Given the description of an element on the screen output the (x, y) to click on. 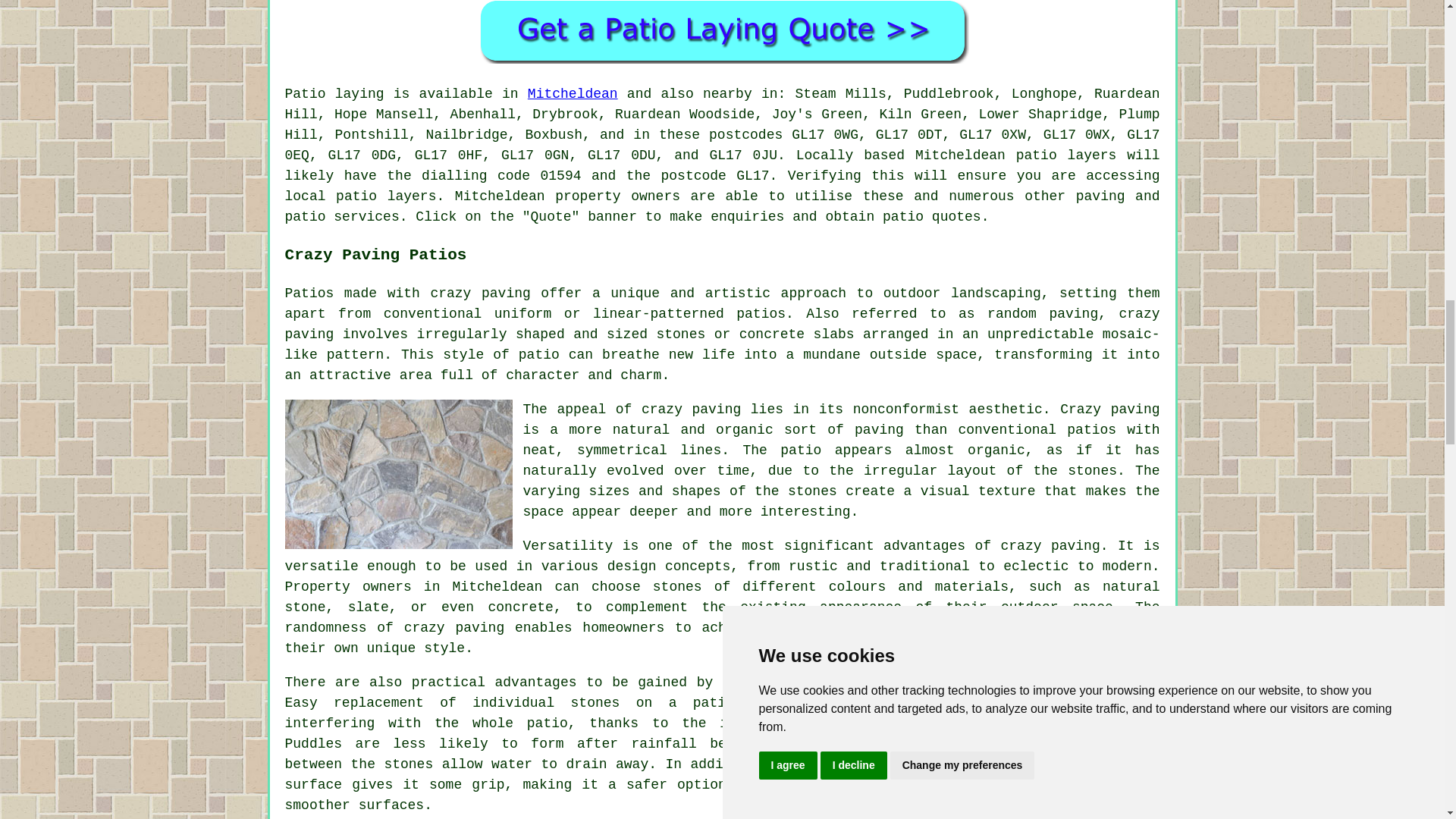
Patio (305, 93)
Crazy Paved Patios Mitcheldean (1046, 745)
patio layers (385, 196)
crazy paving (454, 627)
Crazy Paving Patios (398, 473)
patio layers (1066, 155)
